Given the description of an element on the screen output the (x, y) to click on. 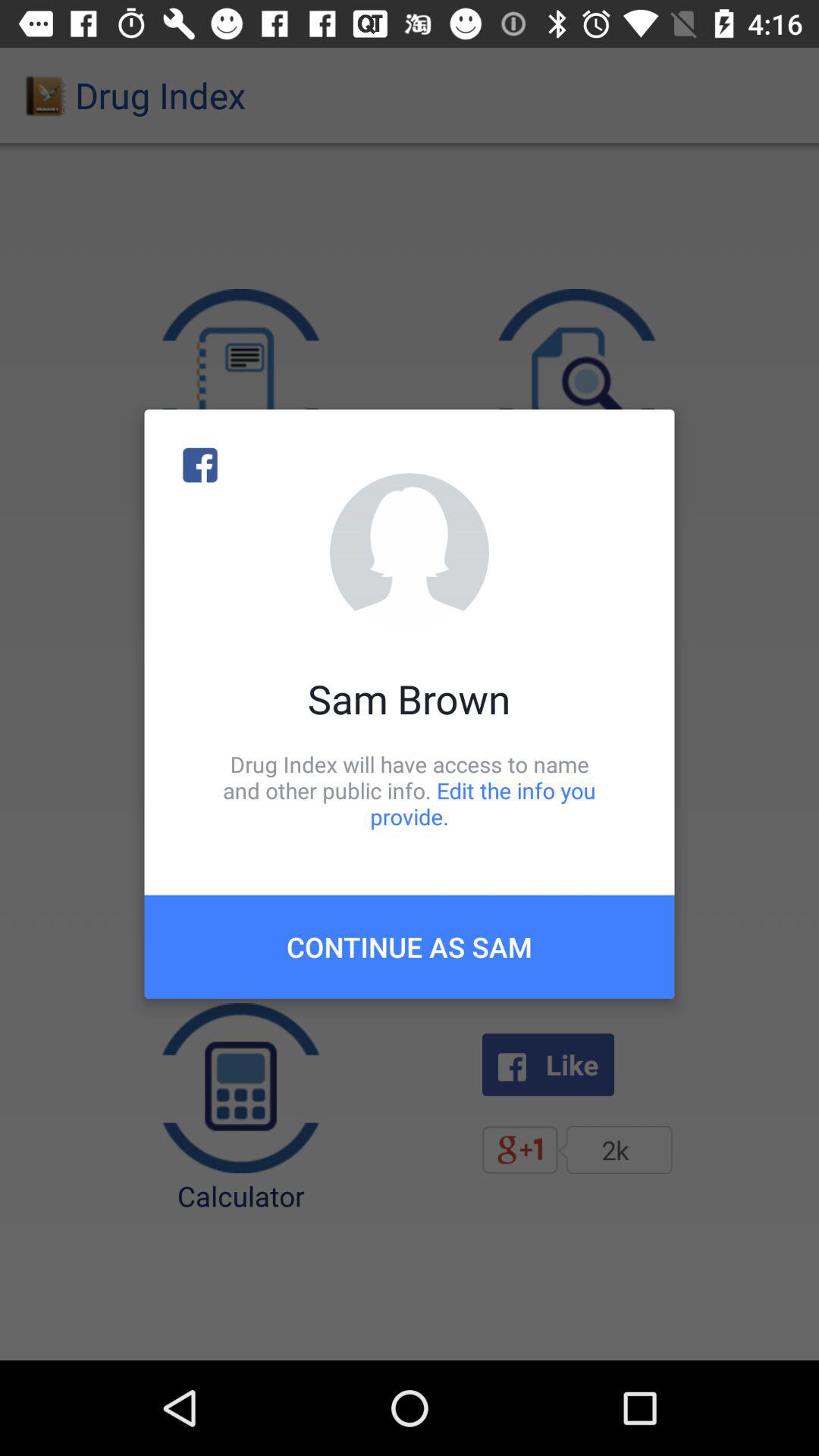
open icon below sam brown icon (409, 790)
